Given the description of an element on the screen output the (x, y) to click on. 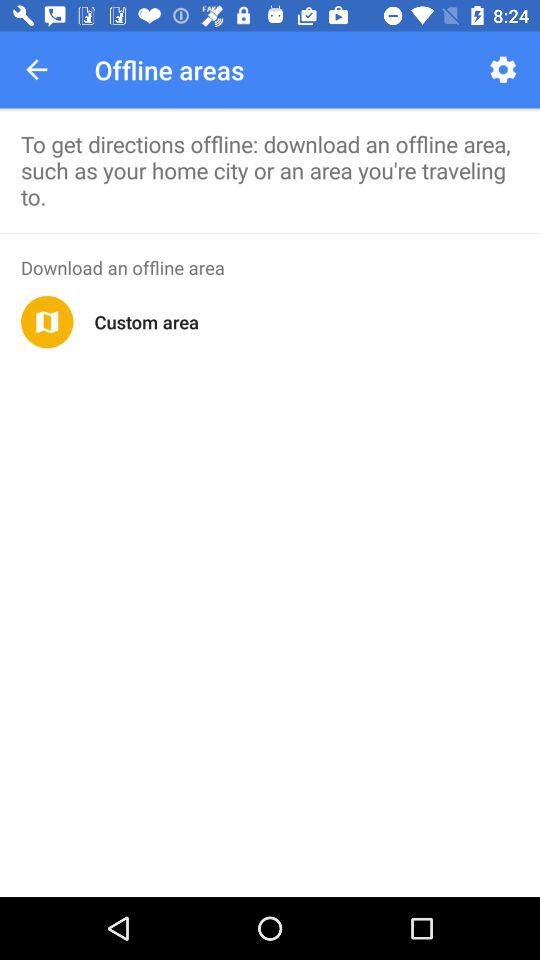
launch icon at the top right corner (502, 69)
